Given the description of an element on the screen output the (x, y) to click on. 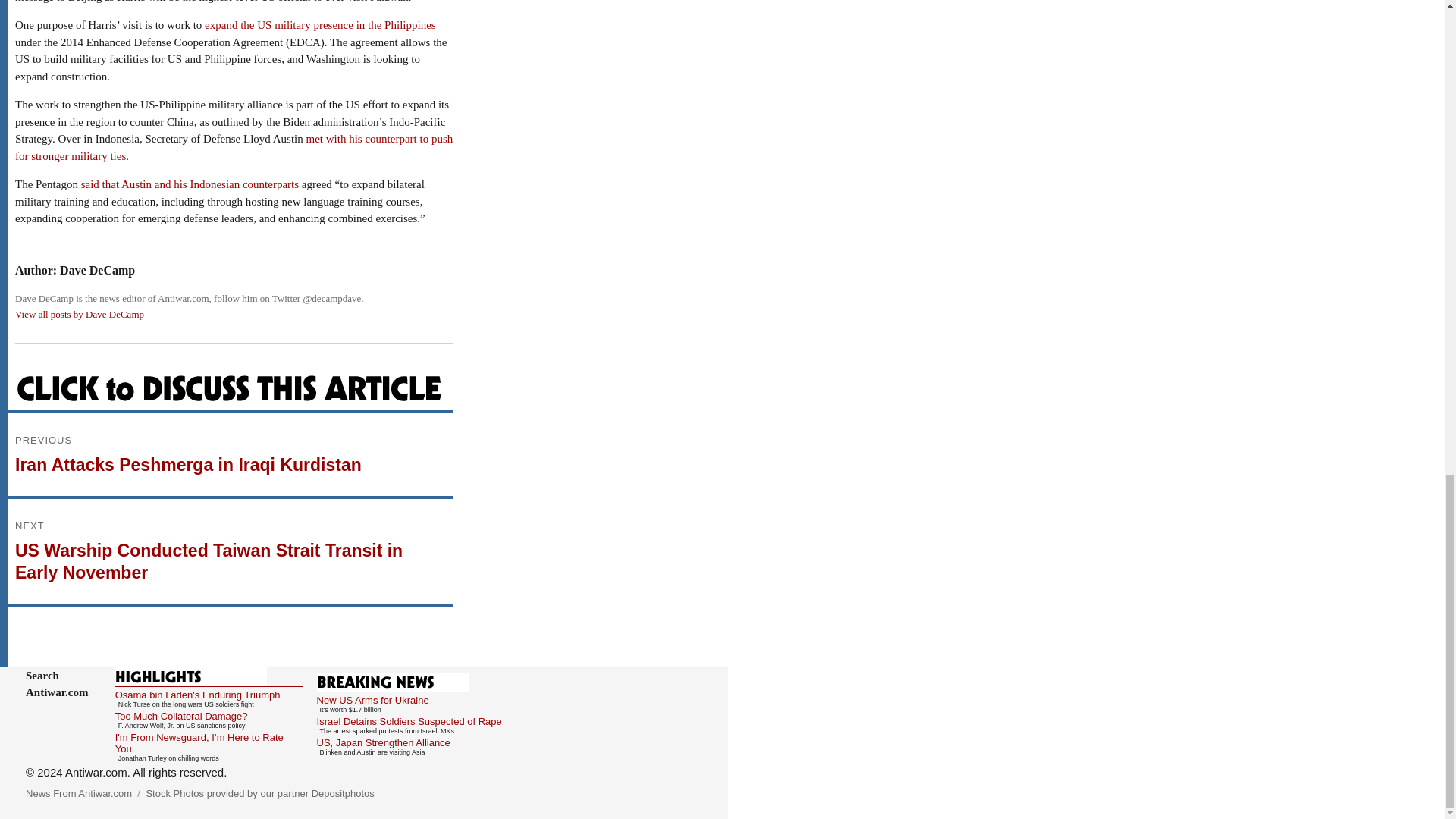
expand the US military presence in the Philippines (320, 24)
said that Austin and his Indonesian counterparts (189, 184)
met with his counterpart to push for stronger military ties. (233, 147)
